Given the description of an element on the screen output the (x, y) to click on. 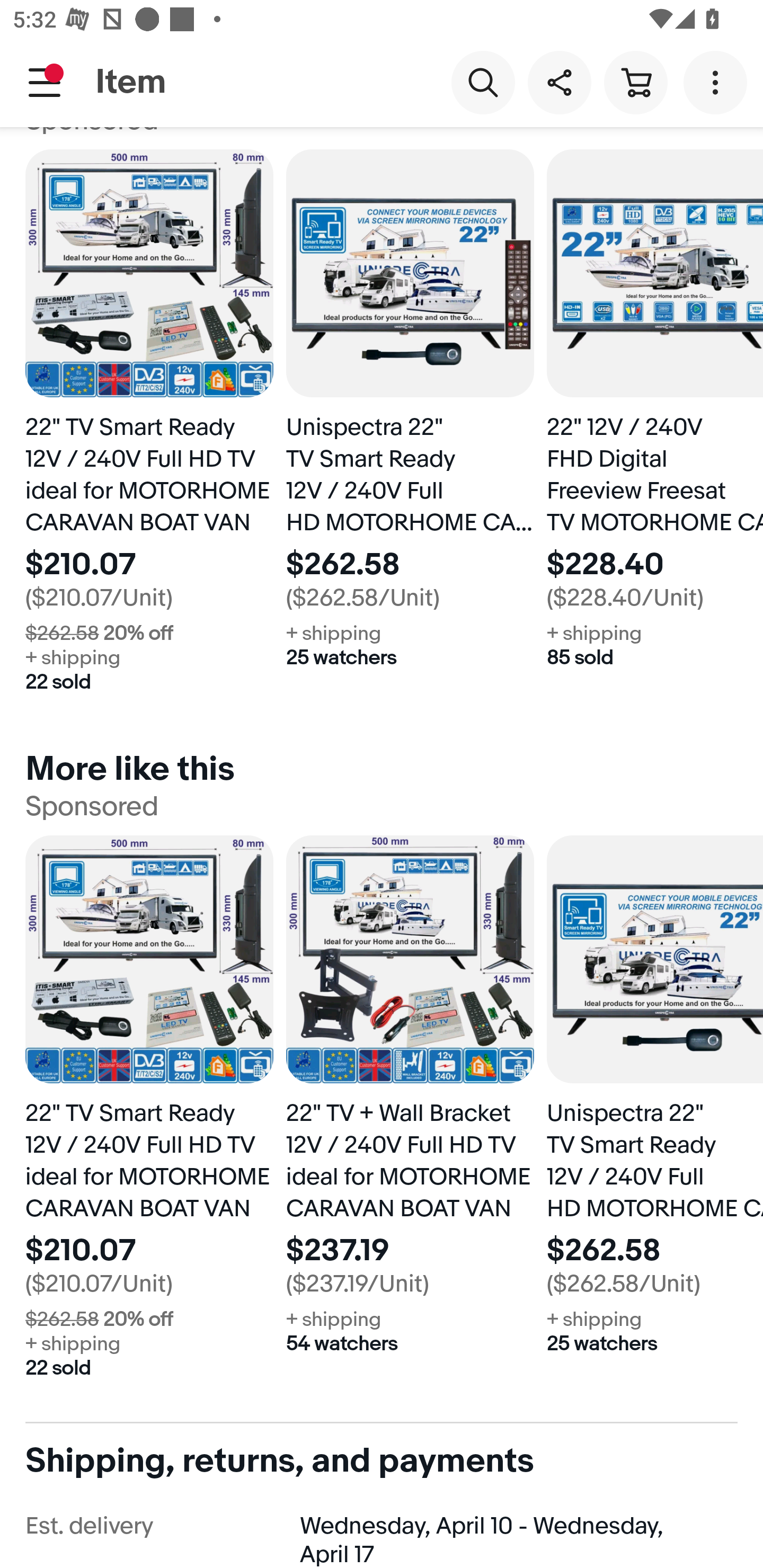
Main navigation, notification is pending, open (44, 82)
Search (482, 81)
Share this item (559, 81)
Cart button shopping cart (635, 81)
More options (718, 81)
